Given the description of an element on the screen output the (x, y) to click on. 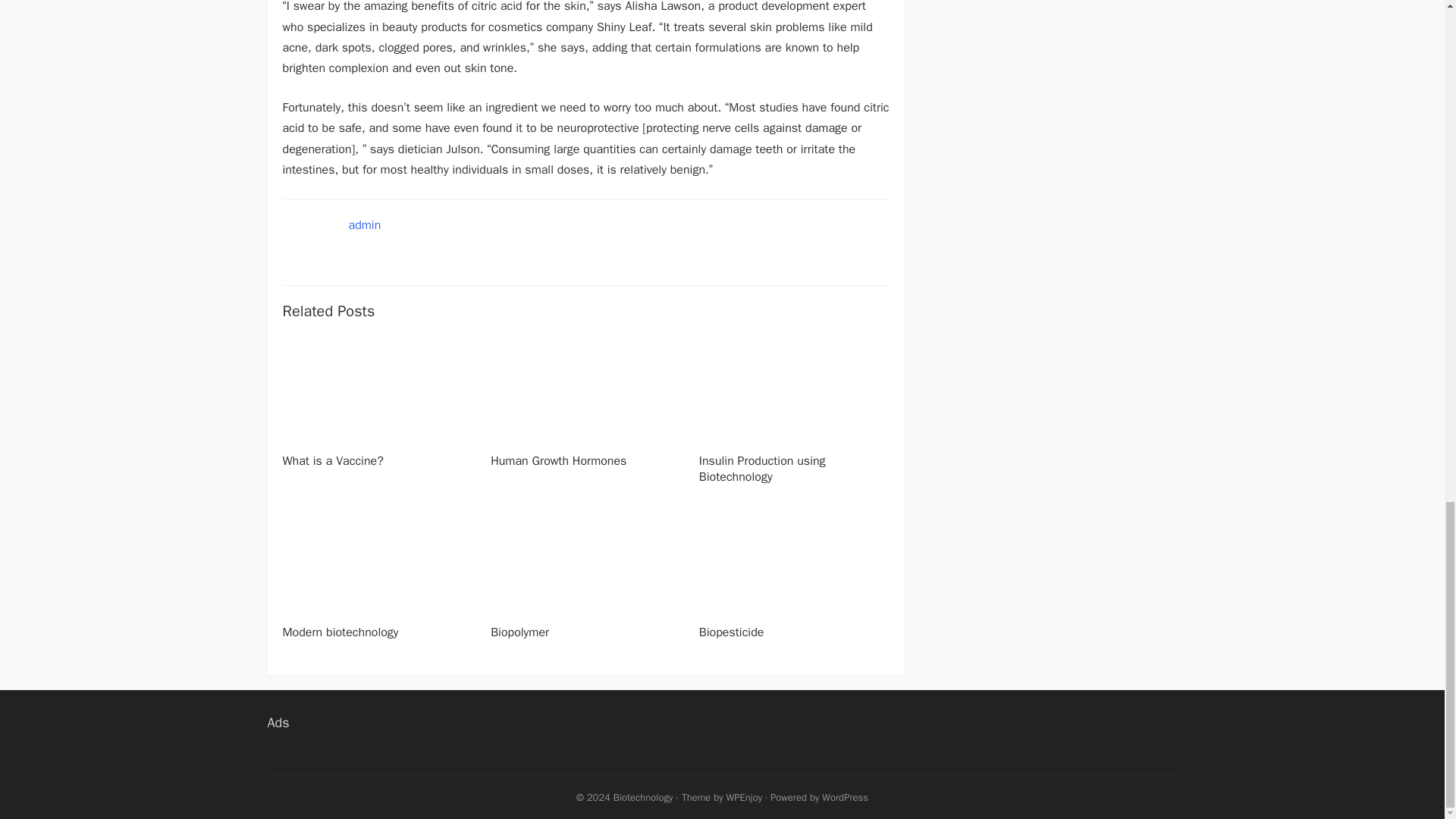
Human Growth Hormones (558, 460)
Biopesticide (731, 631)
Biopolymer (519, 631)
admin (365, 224)
Modern biotechnology (339, 631)
What is a Vaccine? (332, 460)
Biotechnology (642, 797)
Insulin Production using Biotechnology (761, 468)
WordPress (844, 797)
WPEnjoy (744, 797)
